Given the description of an element on the screen output the (x, y) to click on. 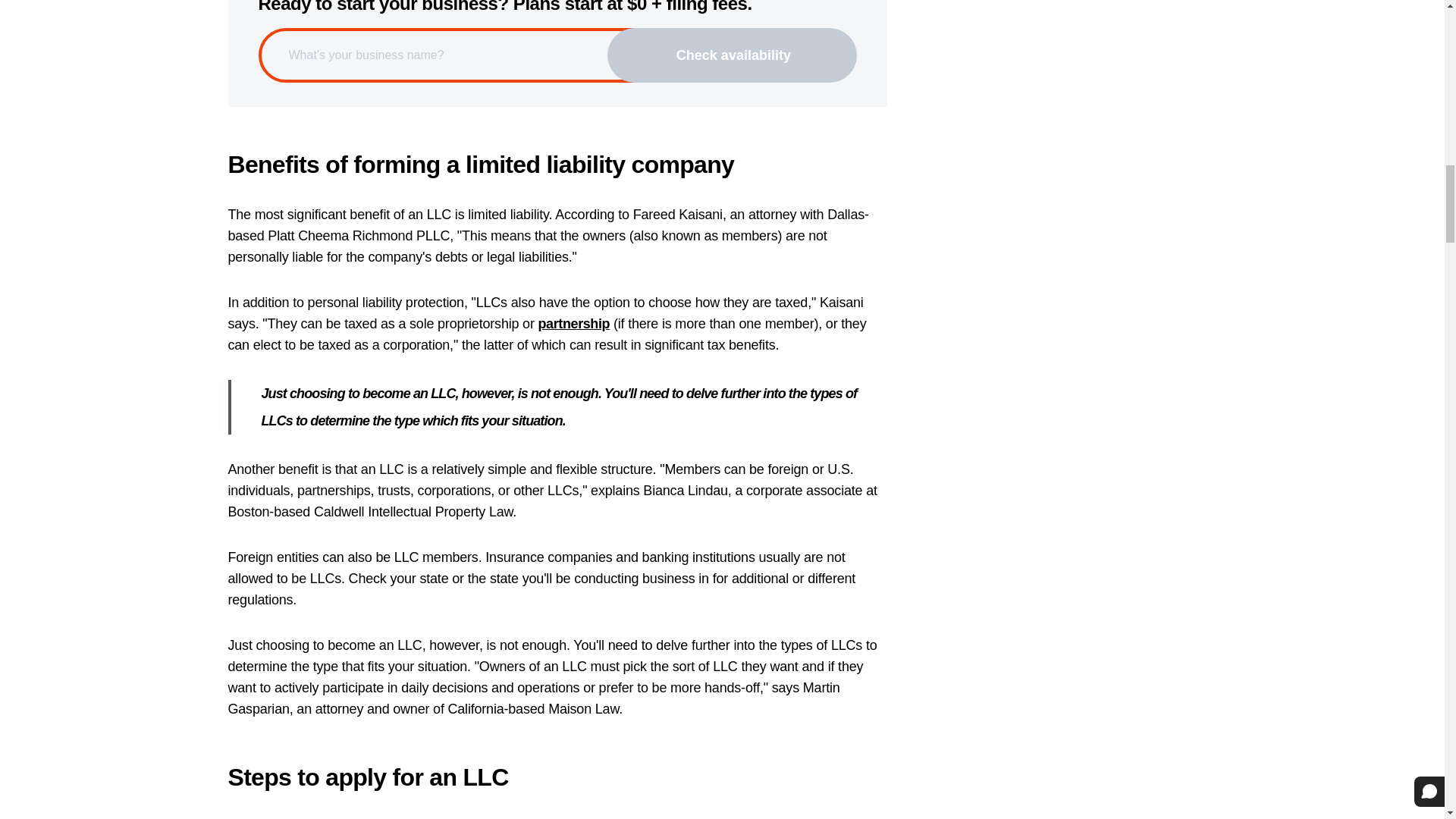
partnership (574, 323)
Check availability (732, 54)
